Given the description of an element on the screen output the (x, y) to click on. 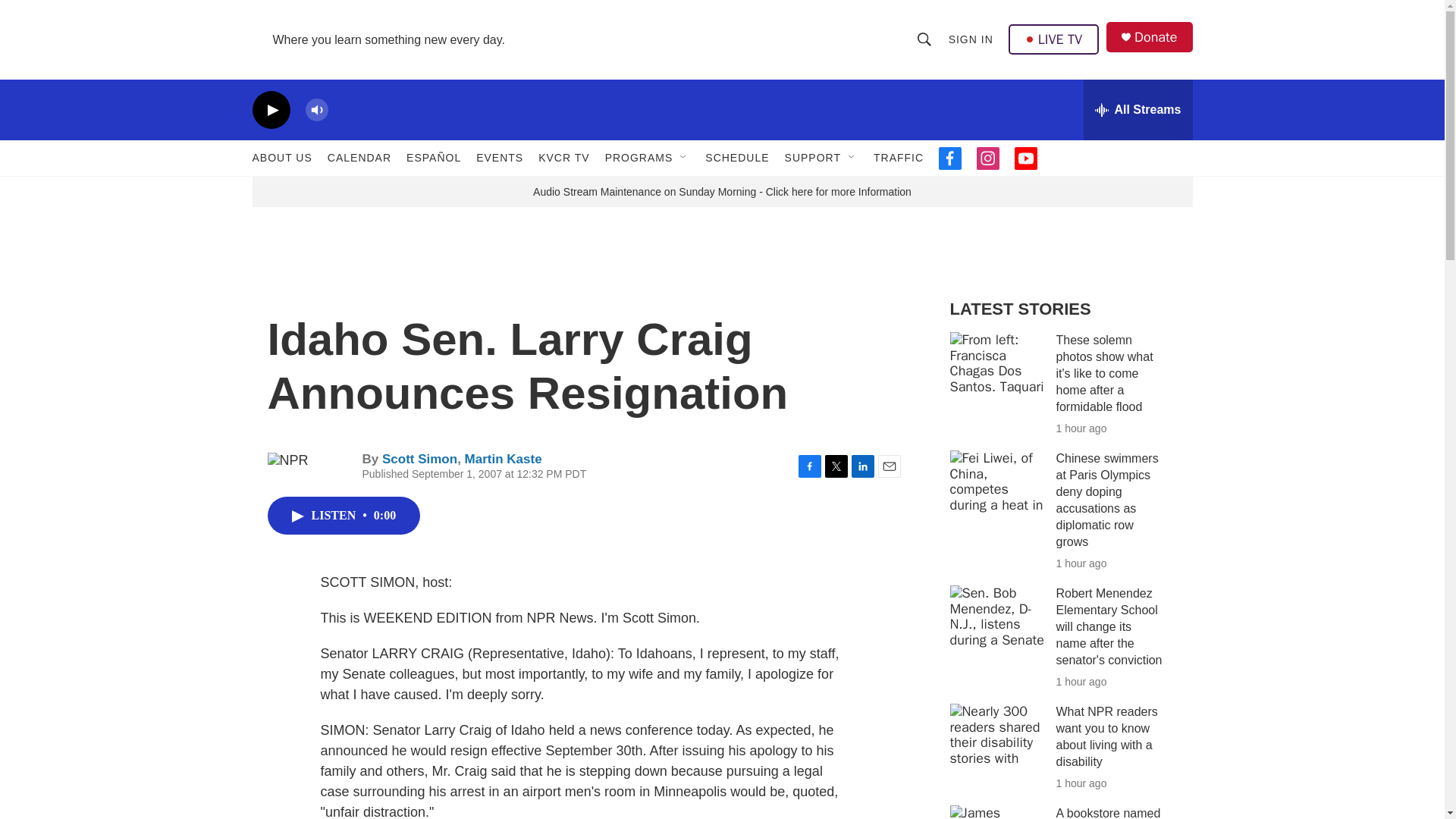
Show Search (924, 39)
